Given the description of an element on the screen output the (x, y) to click on. 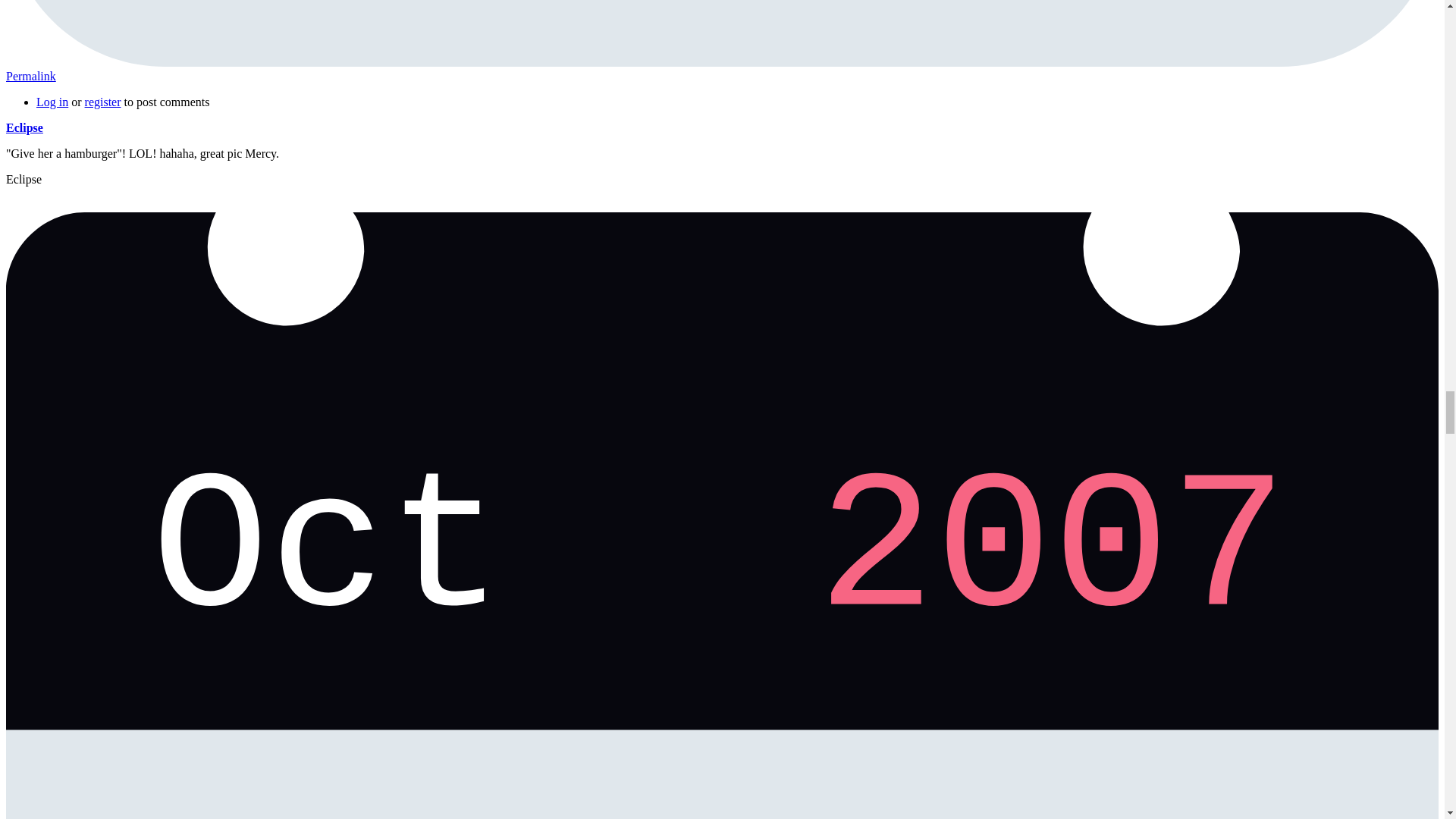
register (102, 101)
Eclipse (24, 127)
Permalink (30, 75)
View user profile. (24, 127)
Log in (52, 101)
